Given the description of an element on the screen output the (x, y) to click on. 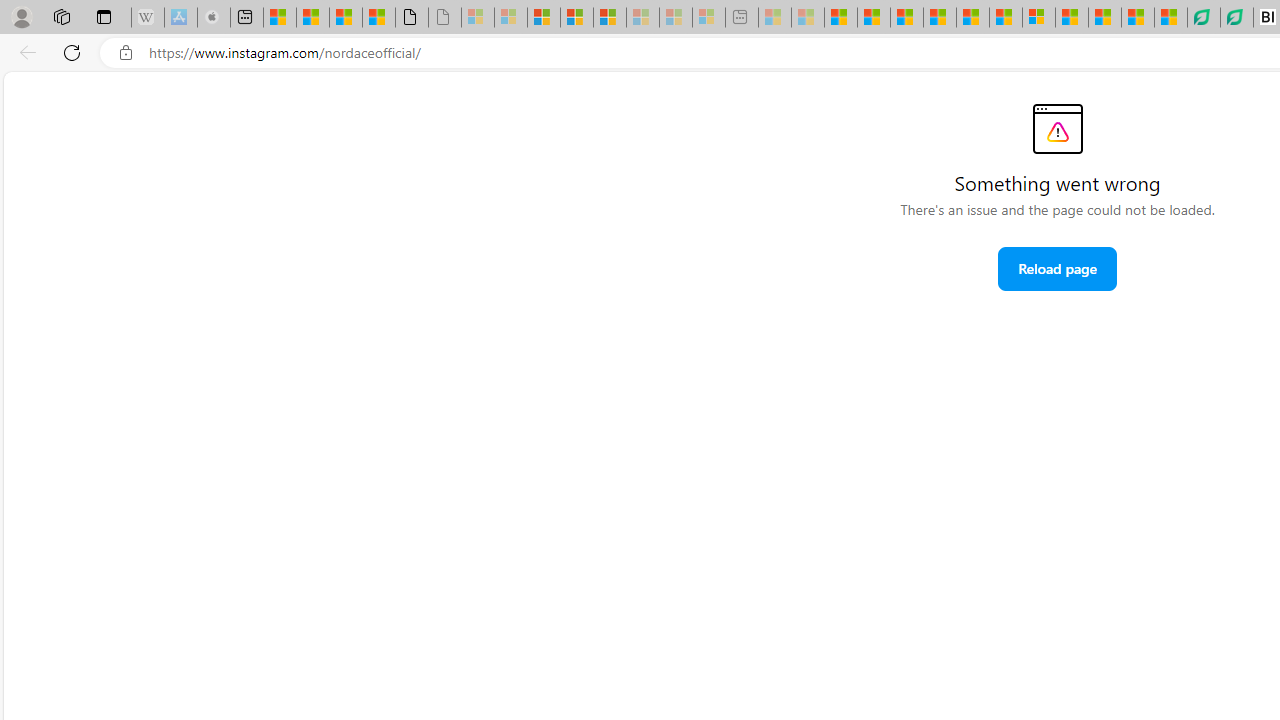
Aberdeen, Hong Kong SAR severe weather | Microsoft Weather (379, 17)
